Given the description of an element on the screen output the (x, y) to click on. 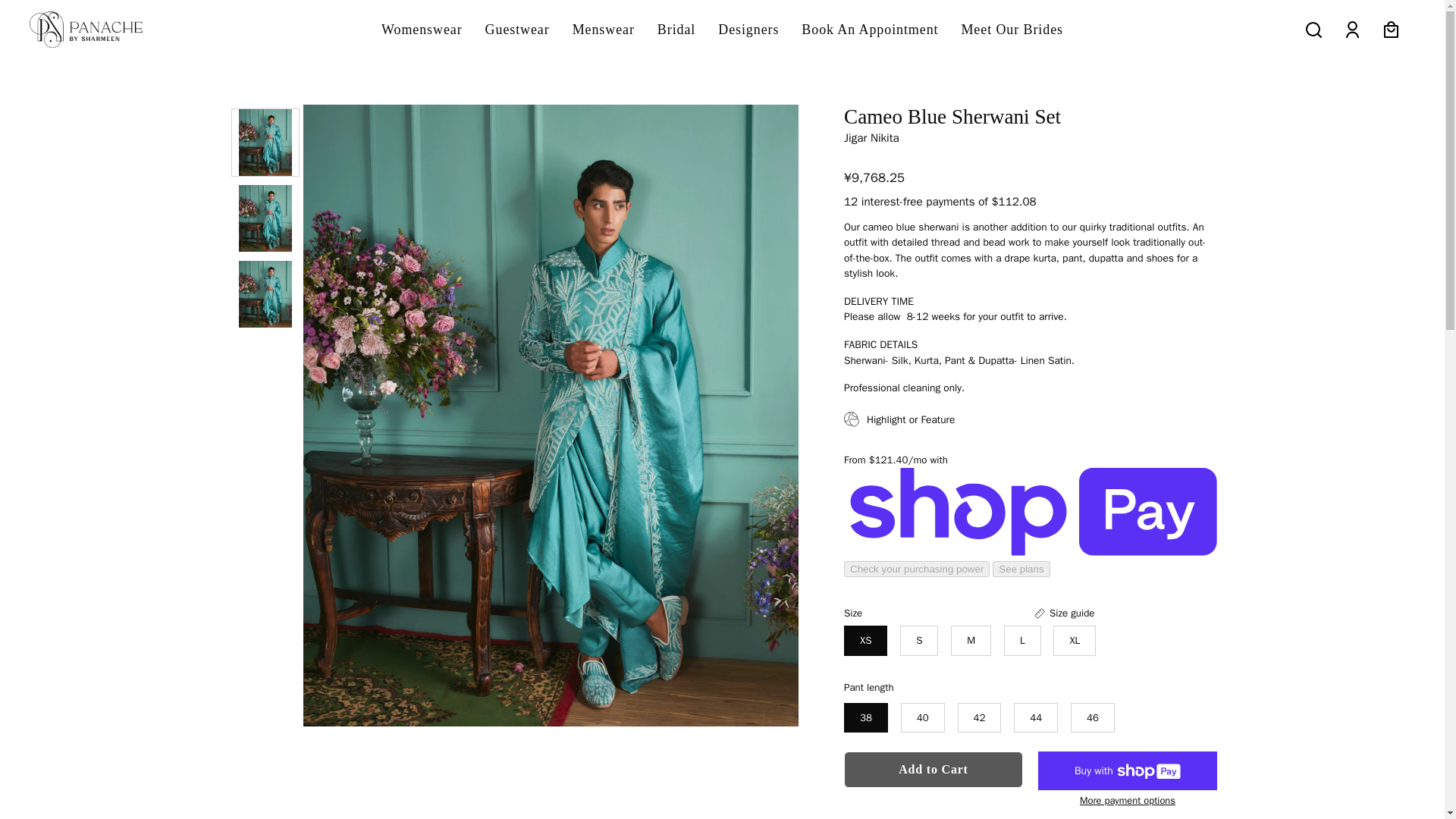
Open search bar (1313, 29)
